Given the description of an element on the screen output the (x, y) to click on. 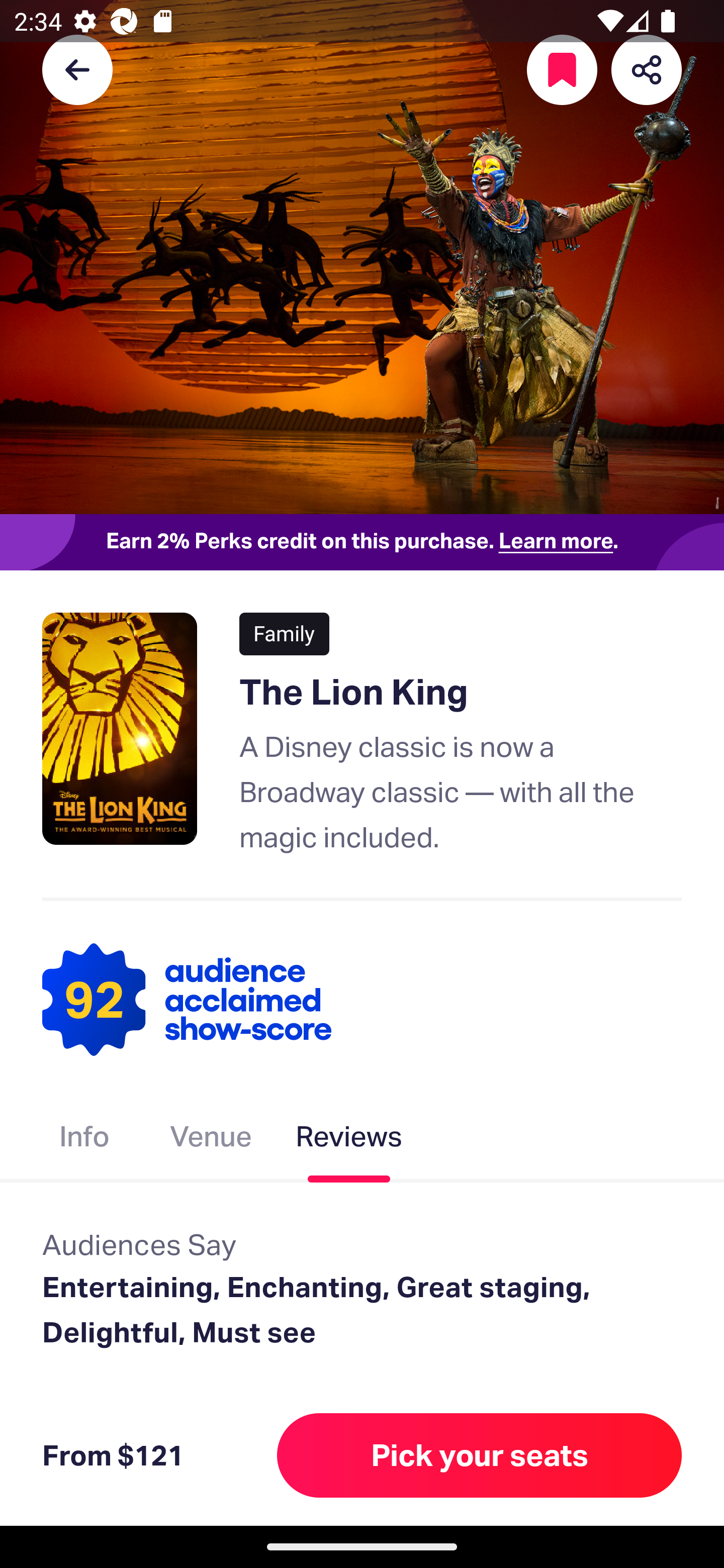
Earn 2% Perks credit on this purchase. Learn more. (362, 542)
Info (83, 1139)
Venue (210, 1139)
Pick your seats (479, 1454)
